Given the description of an element on the screen output the (x, y) to click on. 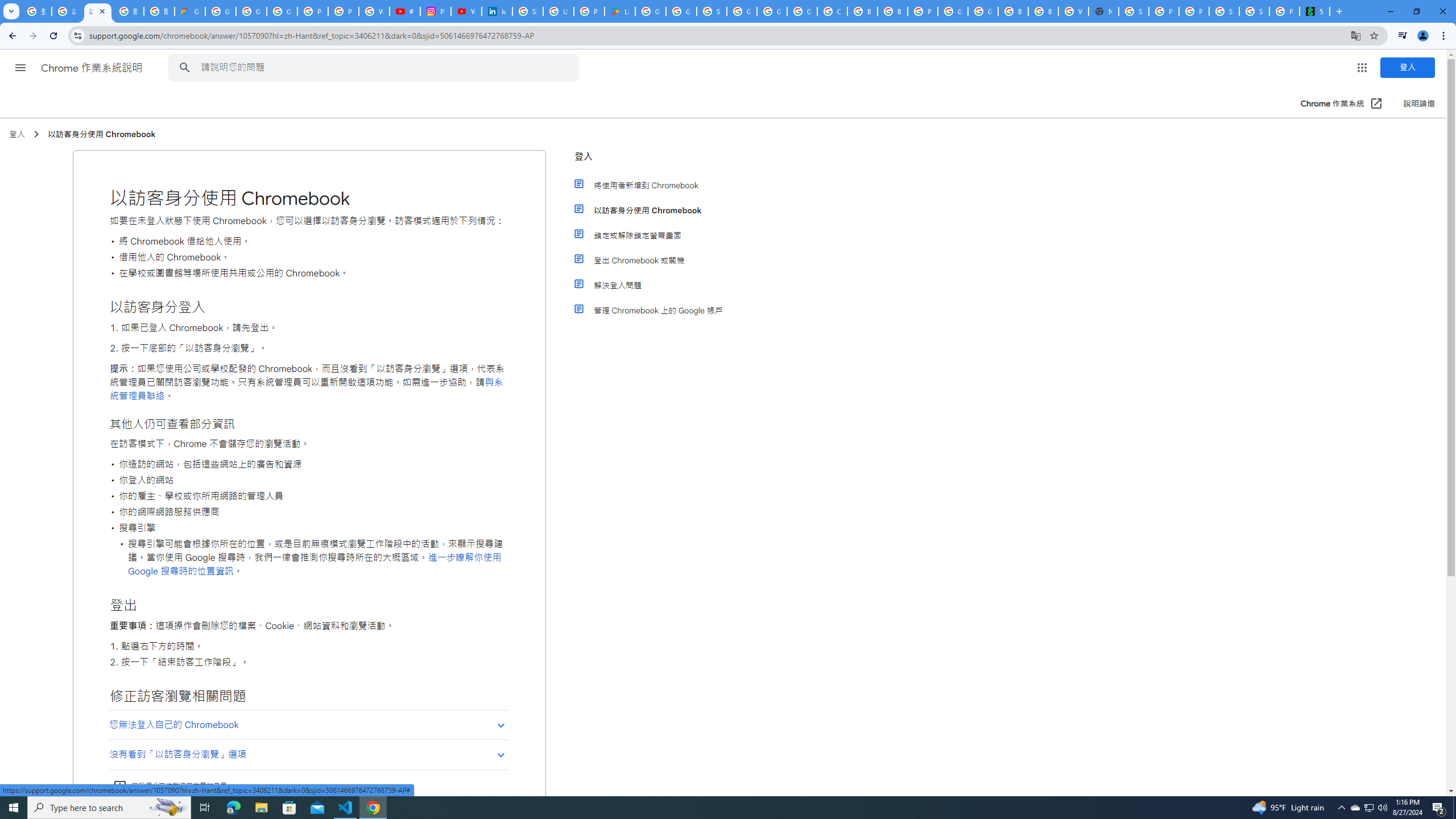
Google Cloud Platform (952, 11)
Browse Chrome as a guest - Computer - Google Chrome Help (892, 11)
